Given the description of an element on the screen output the (x, y) to click on. 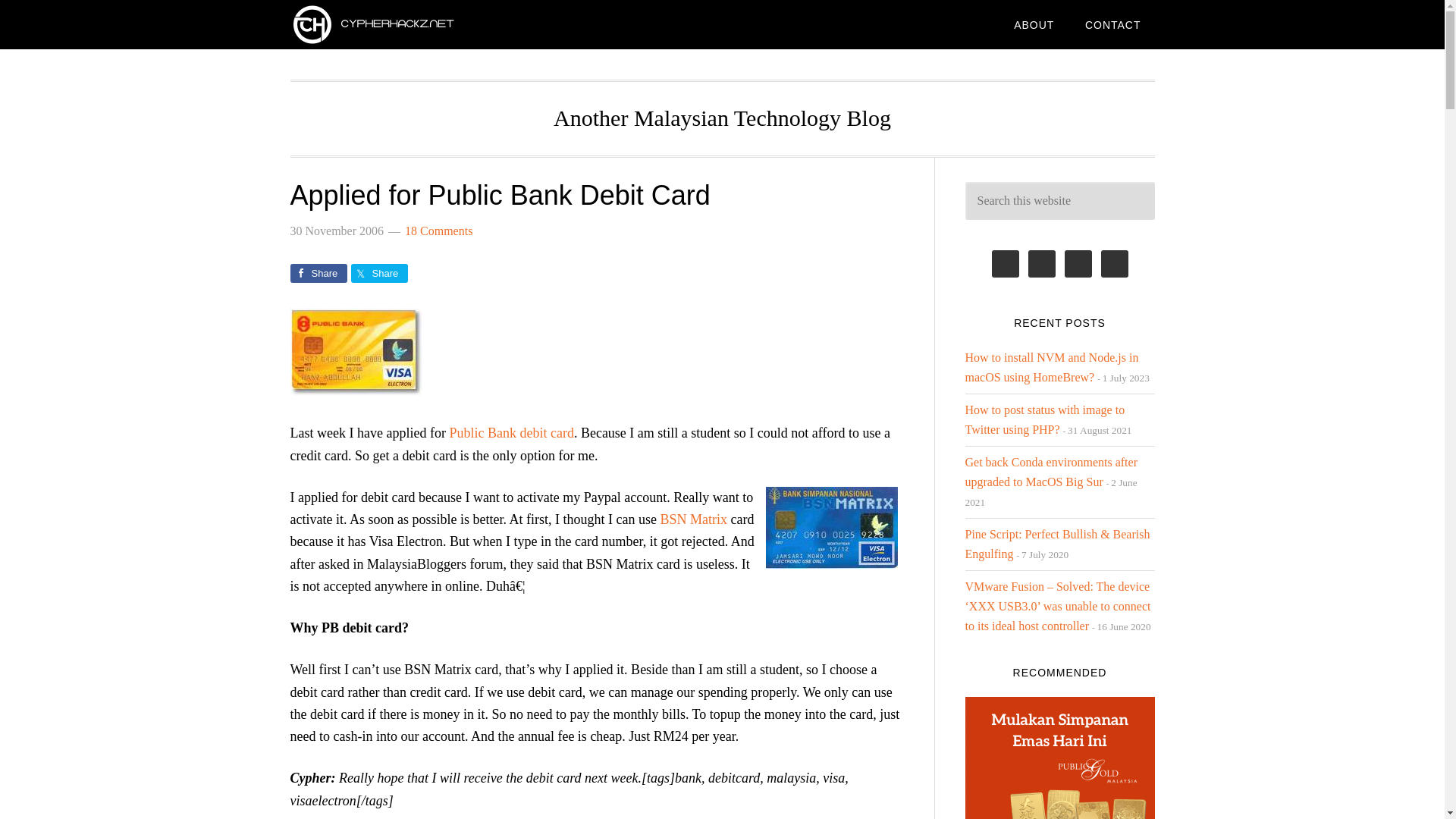
CONTACT (1112, 24)
Share (317, 272)
BSN Matrix (692, 519)
ABOUT (1033, 24)
Public Bank debit card (510, 432)
18 Comments (437, 230)
Public Gold Malaysia (1058, 757)
CYPHERHACKZ.NET (410, 24)
Share (378, 272)
